Given the description of an element on the screen output the (x, y) to click on. 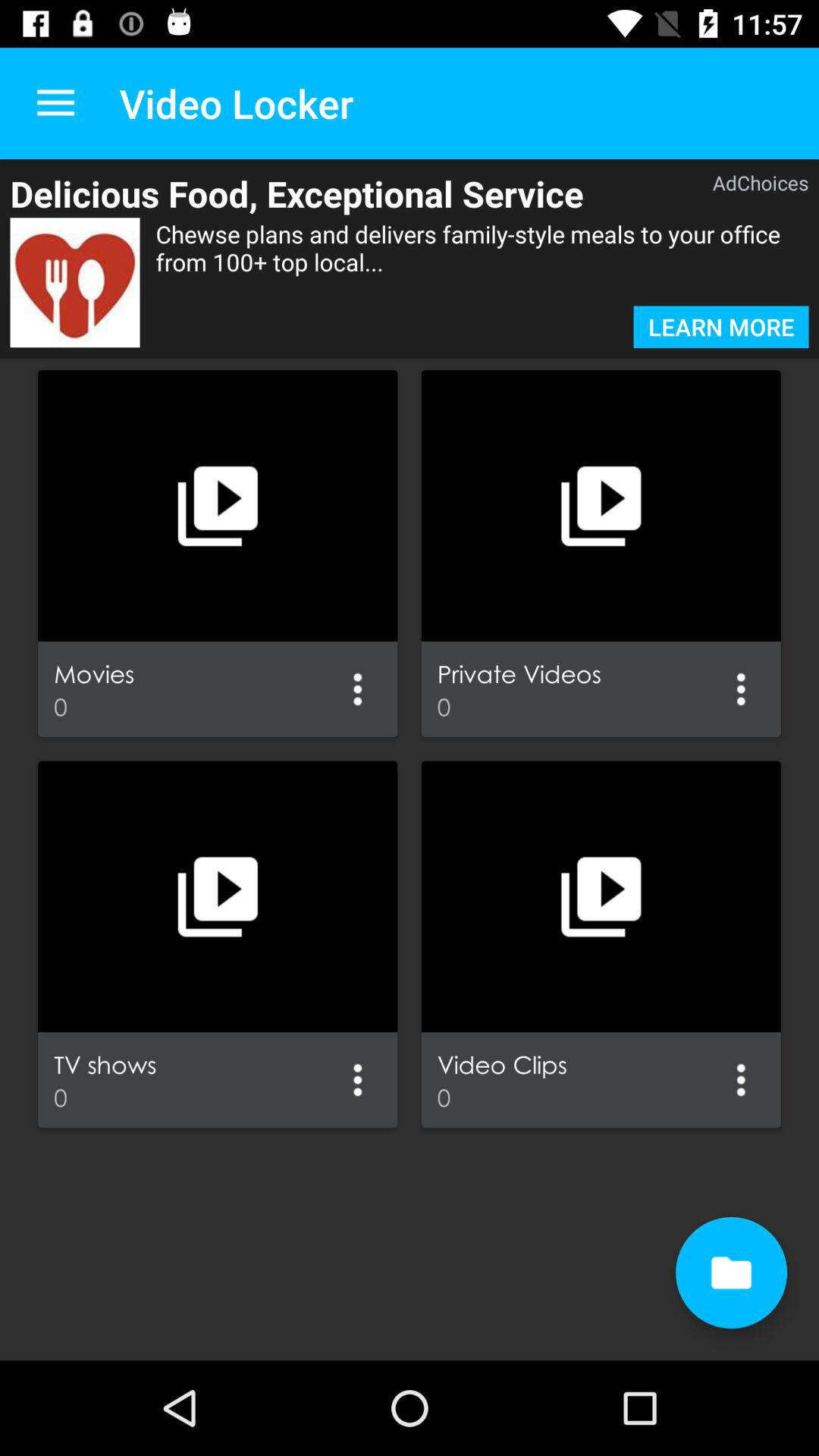
press the icon next to adchoices (337, 193)
